Given the description of an element on the screen output the (x, y) to click on. 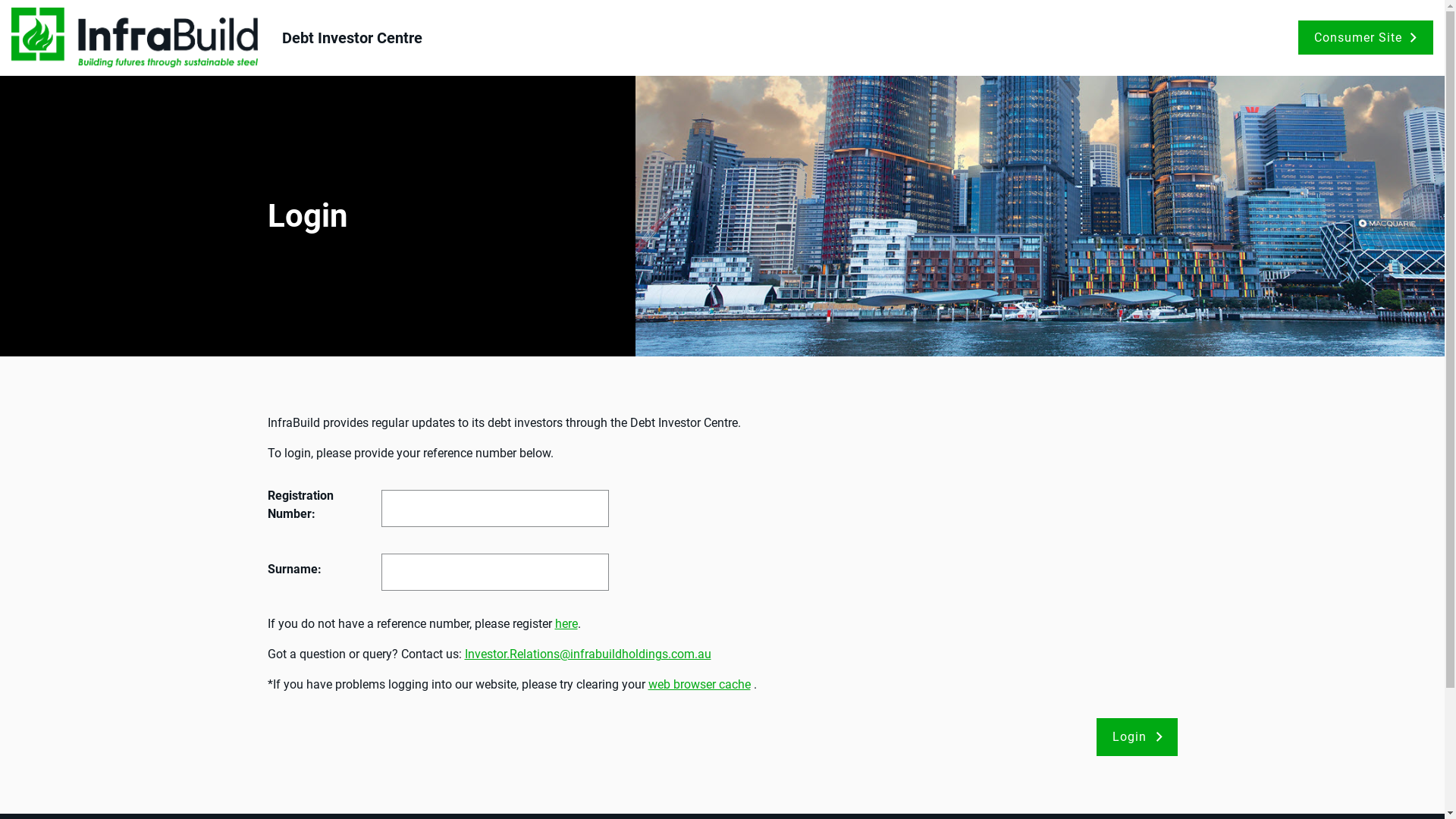
Investor.Relations@infrabuildholdings.com.au Element type: text (587, 653)
Login Element type: text (1136, 737)
Consumer Site Element type: text (1365, 37)
here Element type: text (566, 623)
web browser cache Element type: text (698, 684)
